Given the description of an element on the screen output the (x, y) to click on. 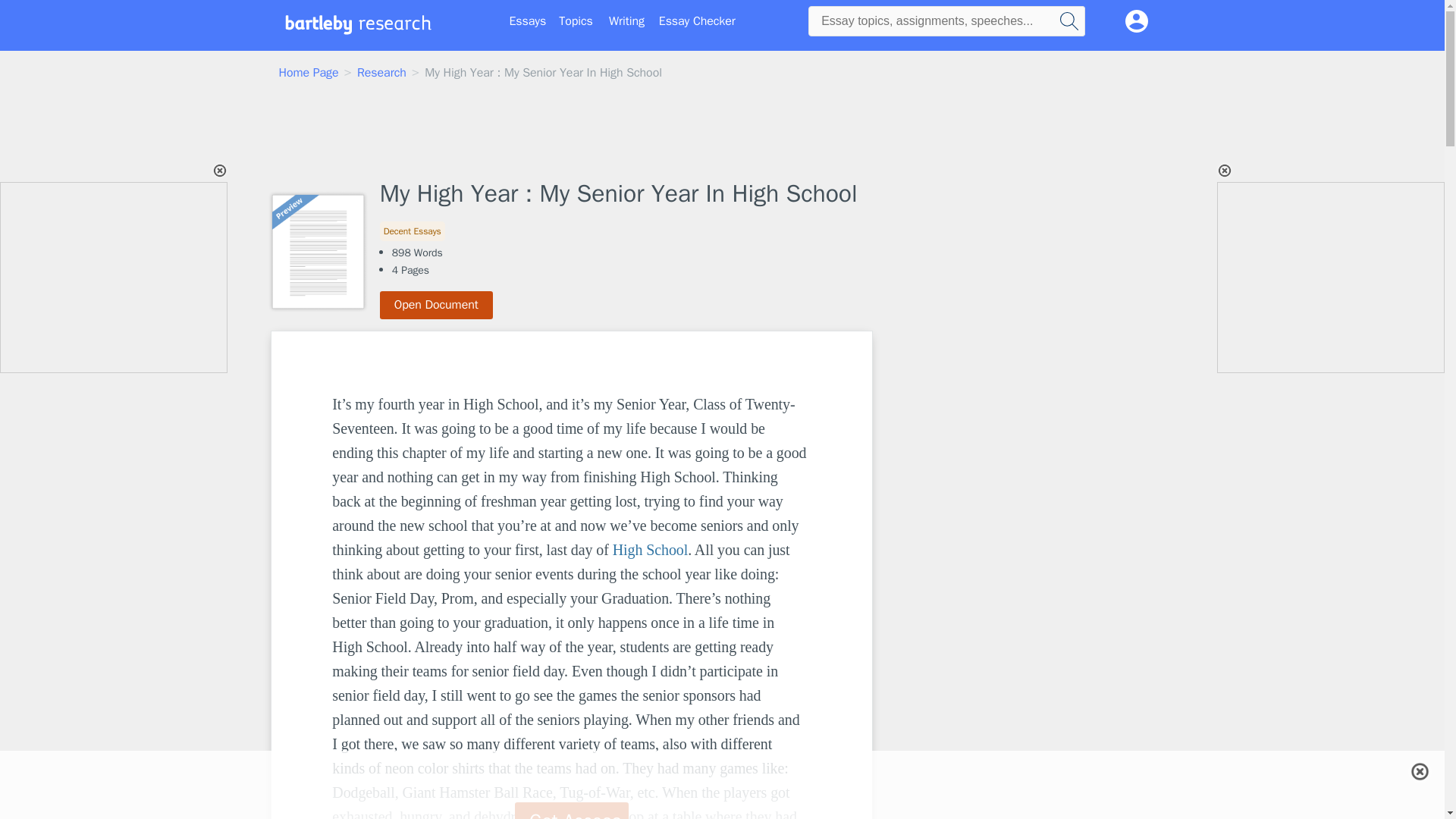
3rd party ad content (721, 785)
Writing (626, 20)
3rd party ad content (722, 131)
Essays (528, 20)
Get Access (571, 810)
Research (381, 72)
Essay Checker (697, 20)
High School (649, 549)
3rd party ad content (114, 277)
Home Page (309, 72)
Topics (575, 20)
Open Document (436, 305)
3rd party ad content (997, 425)
